Given the description of an element on the screen output the (x, y) to click on. 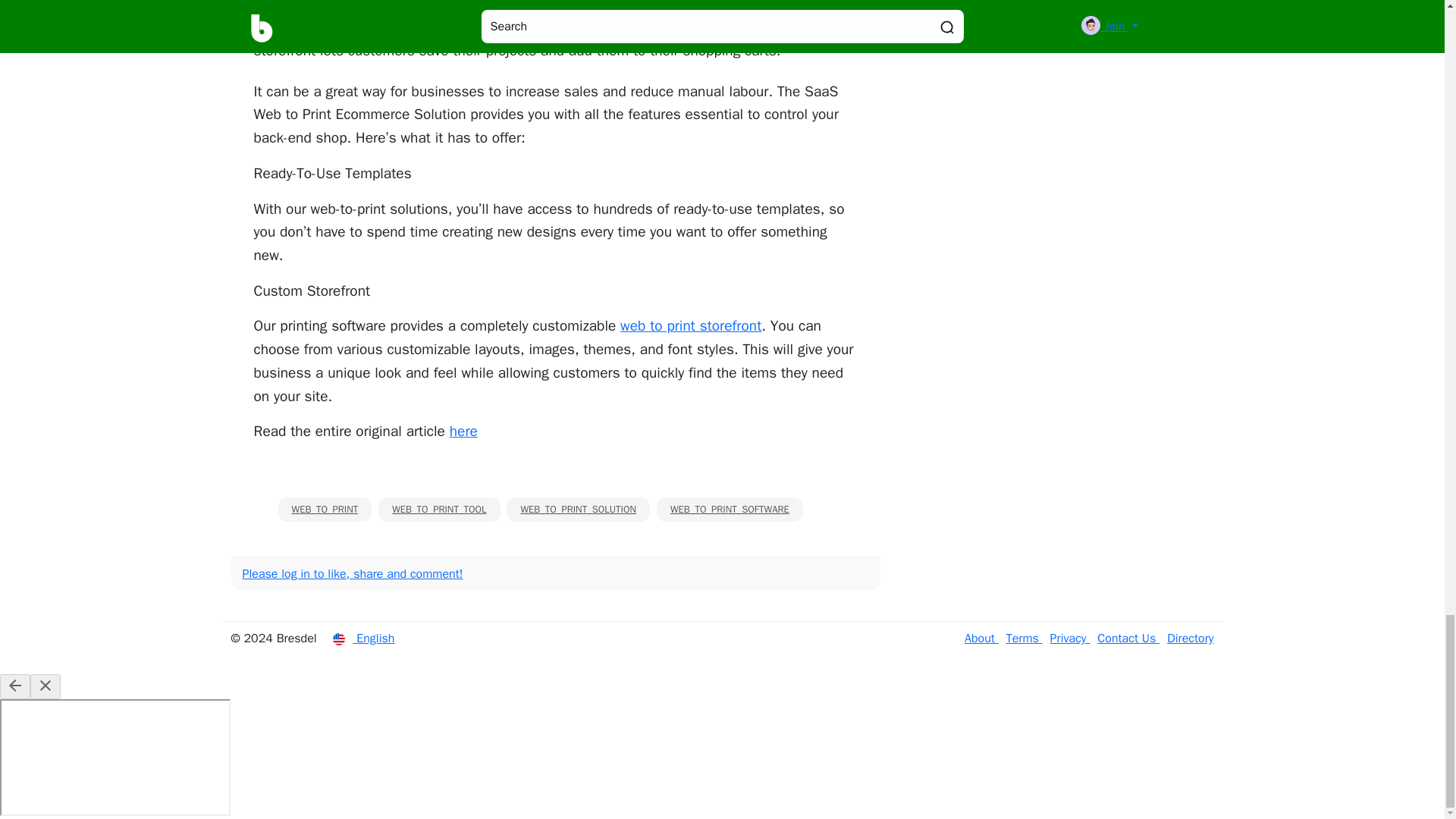
Please log in to like, share and comment! (353, 573)
here (463, 431)
web to print storefront (690, 325)
